Given the description of an element on the screen output the (x, y) to click on. 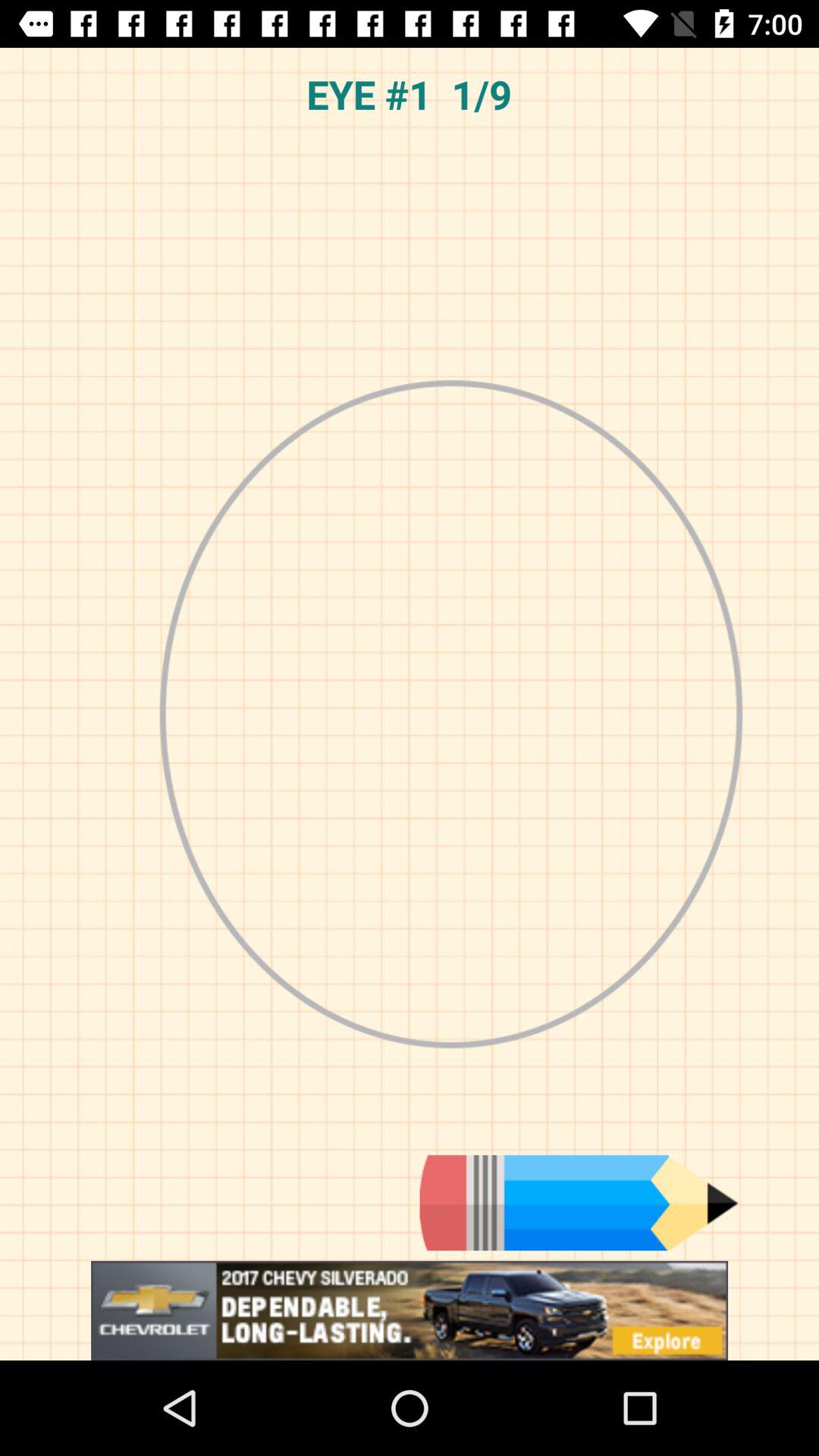
advertisement for chevrolet (409, 1310)
